Given the description of an element on the screen output the (x, y) to click on. 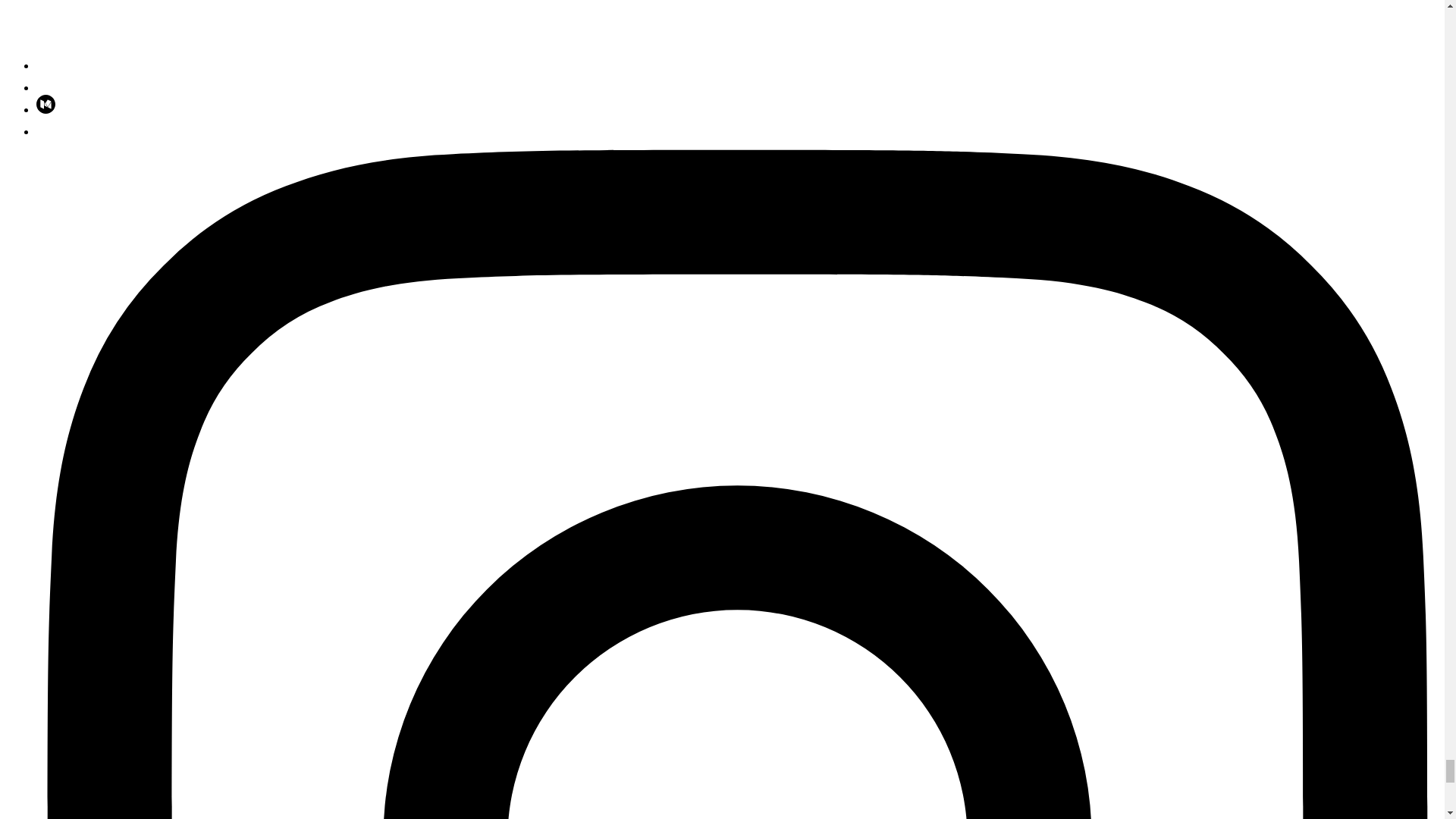
youtube (45, 87)
medium (45, 109)
X (491, 65)
facebook (45, 131)
